Given the description of an element on the screen output the (x, y) to click on. 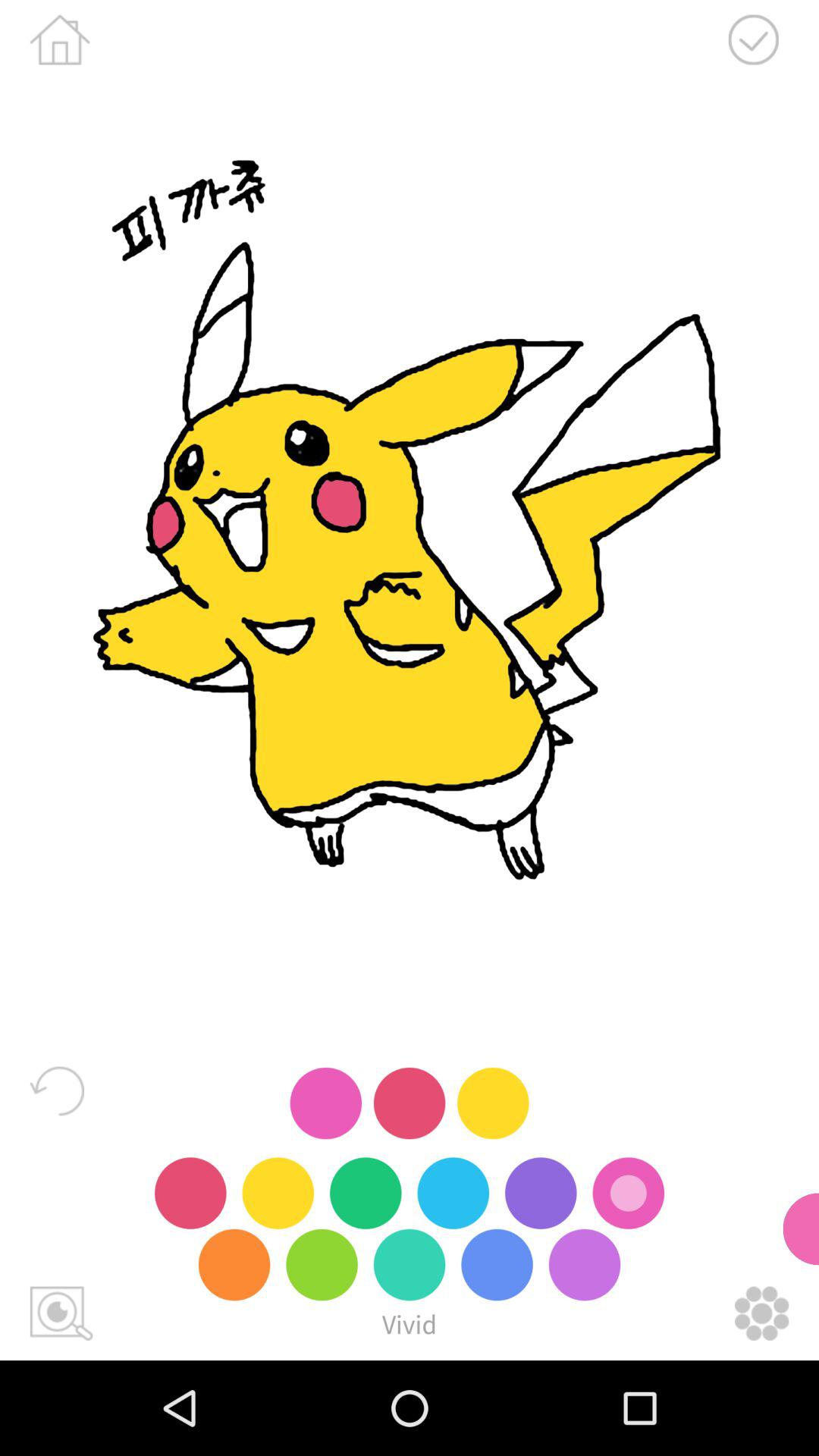
go home (59, 39)
